Given the description of an element on the screen output the (x, y) to click on. 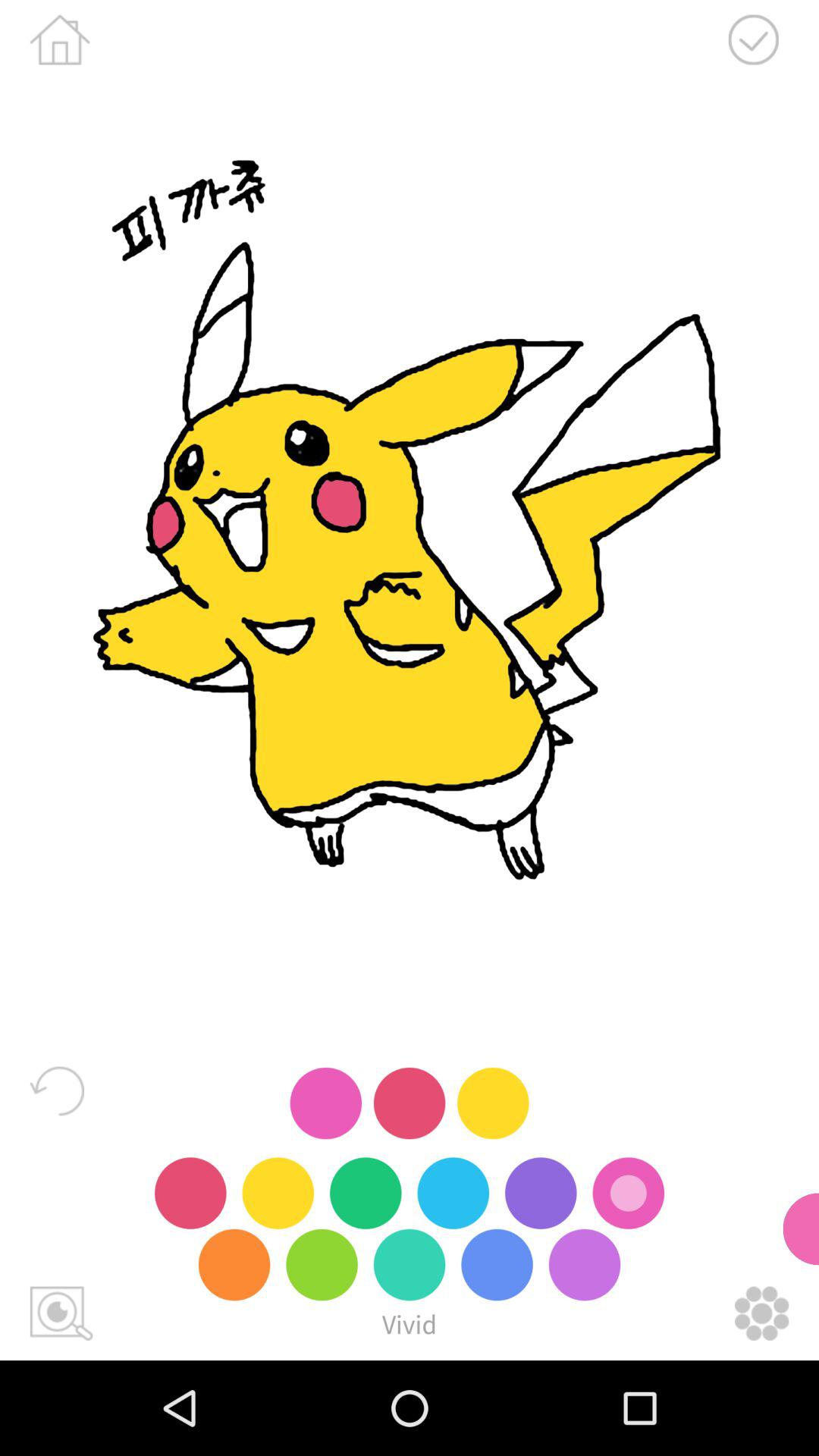
go home (59, 39)
